Given the description of an element on the screen output the (x, y) to click on. 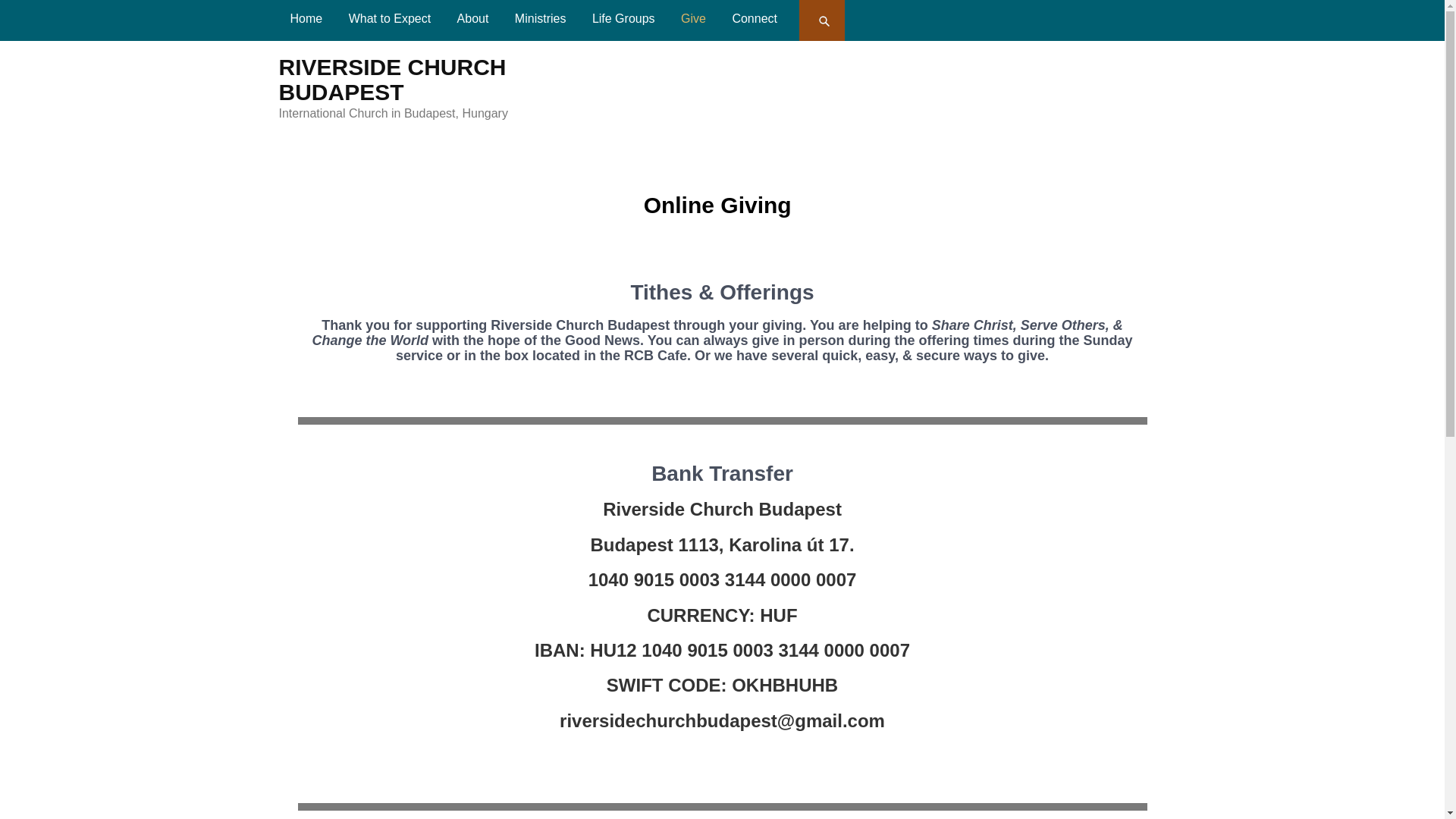
Search (823, 20)
Life Groups (623, 18)
About (472, 18)
What to Expect (389, 18)
Home (306, 18)
Search (823, 20)
Connect (754, 18)
Give (693, 18)
Ministries (540, 18)
Search (823, 20)
RIVERSIDE CHURCH BUDAPEST (392, 79)
